Given the description of an element on the screen output the (x, y) to click on. 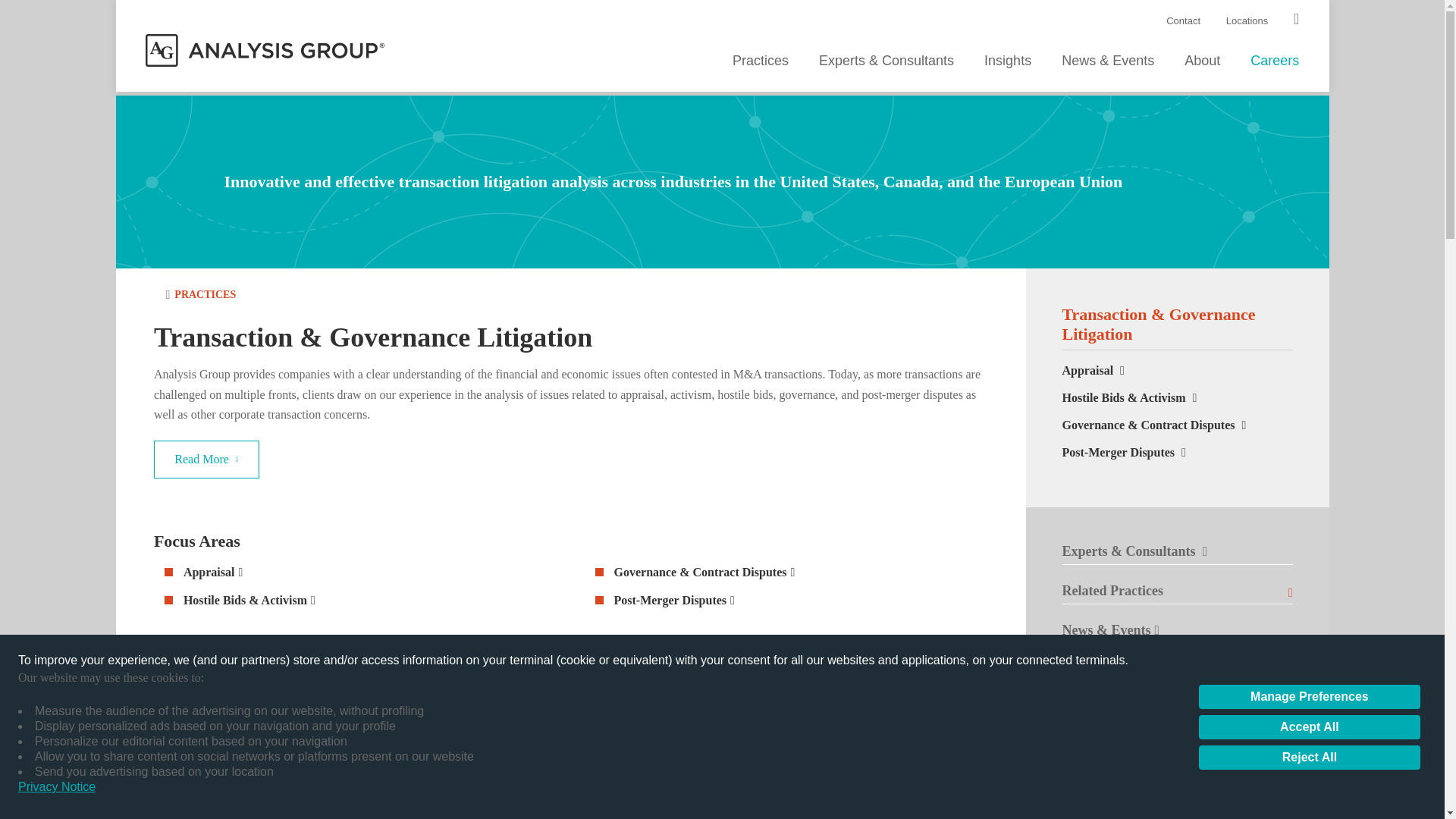
Contact (1182, 20)
Locations (1246, 20)
Accept All (1309, 726)
Reject All (1309, 757)
Privacy Notice (56, 786)
Practices (760, 62)
Manage Preferences (1309, 696)
